Given the description of an element on the screen output the (x, y) to click on. 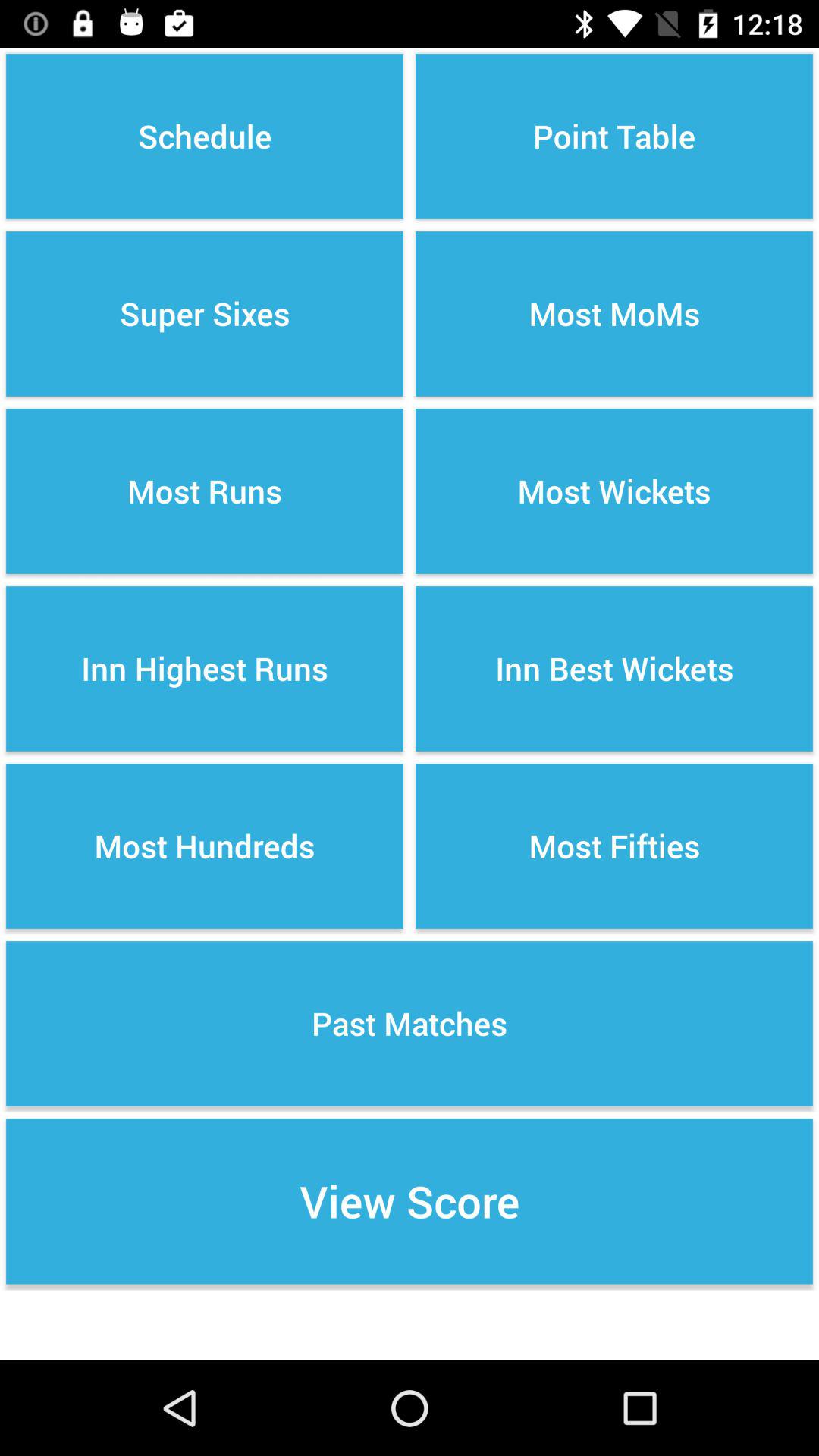
press the icon to the right of the super sixes icon (613, 490)
